Given the description of an element on the screen output the (x, y) to click on. 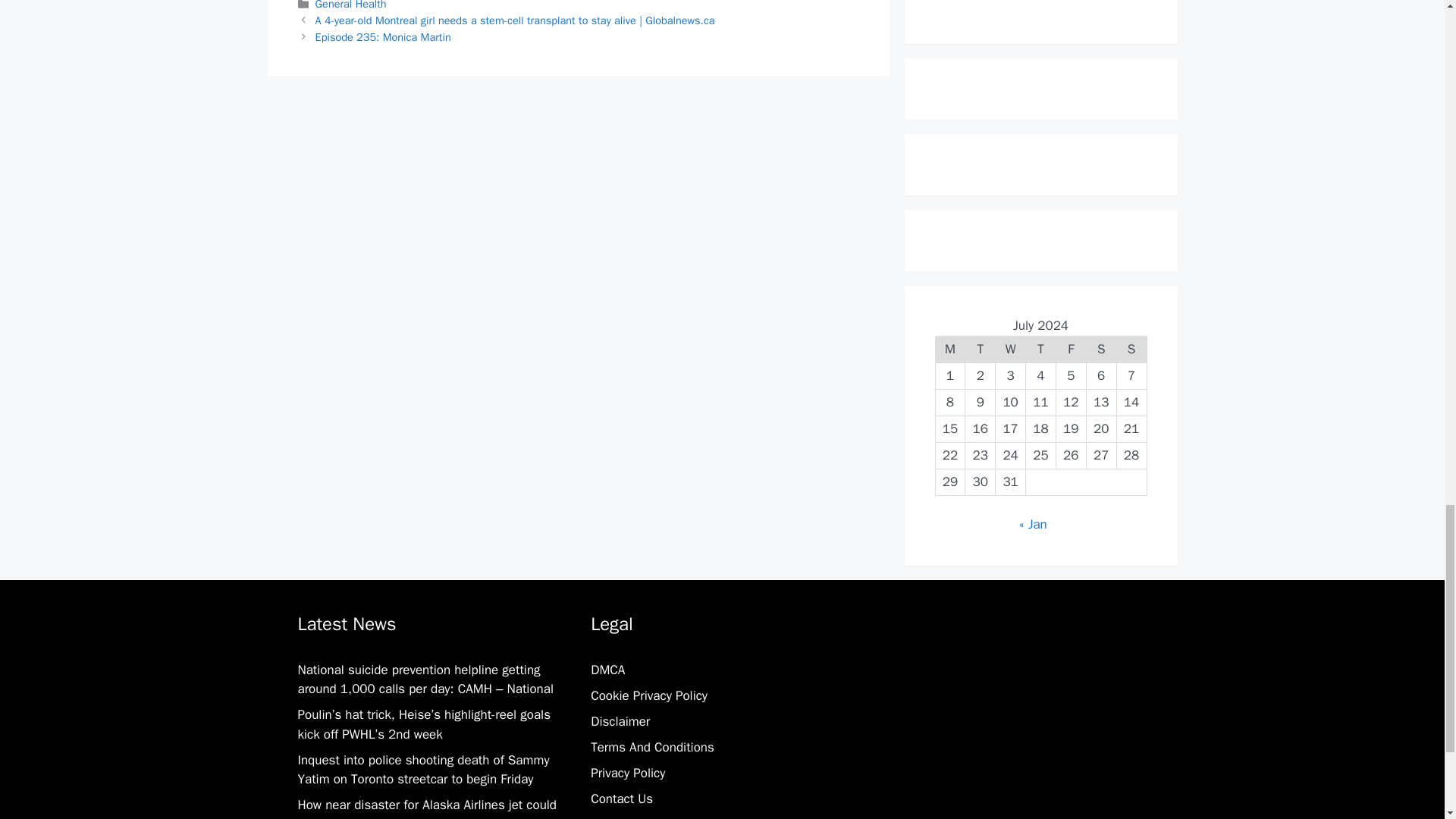
Thursday (1041, 348)
Wednesday (1010, 348)
Sunday (1131, 348)
Monday (949, 348)
Episode 235: Monica Martin (383, 37)
Friday (1070, 348)
General Health (351, 5)
Tuesday (980, 348)
Saturday (1101, 348)
